Given the description of an element on the screen output the (x, y) to click on. 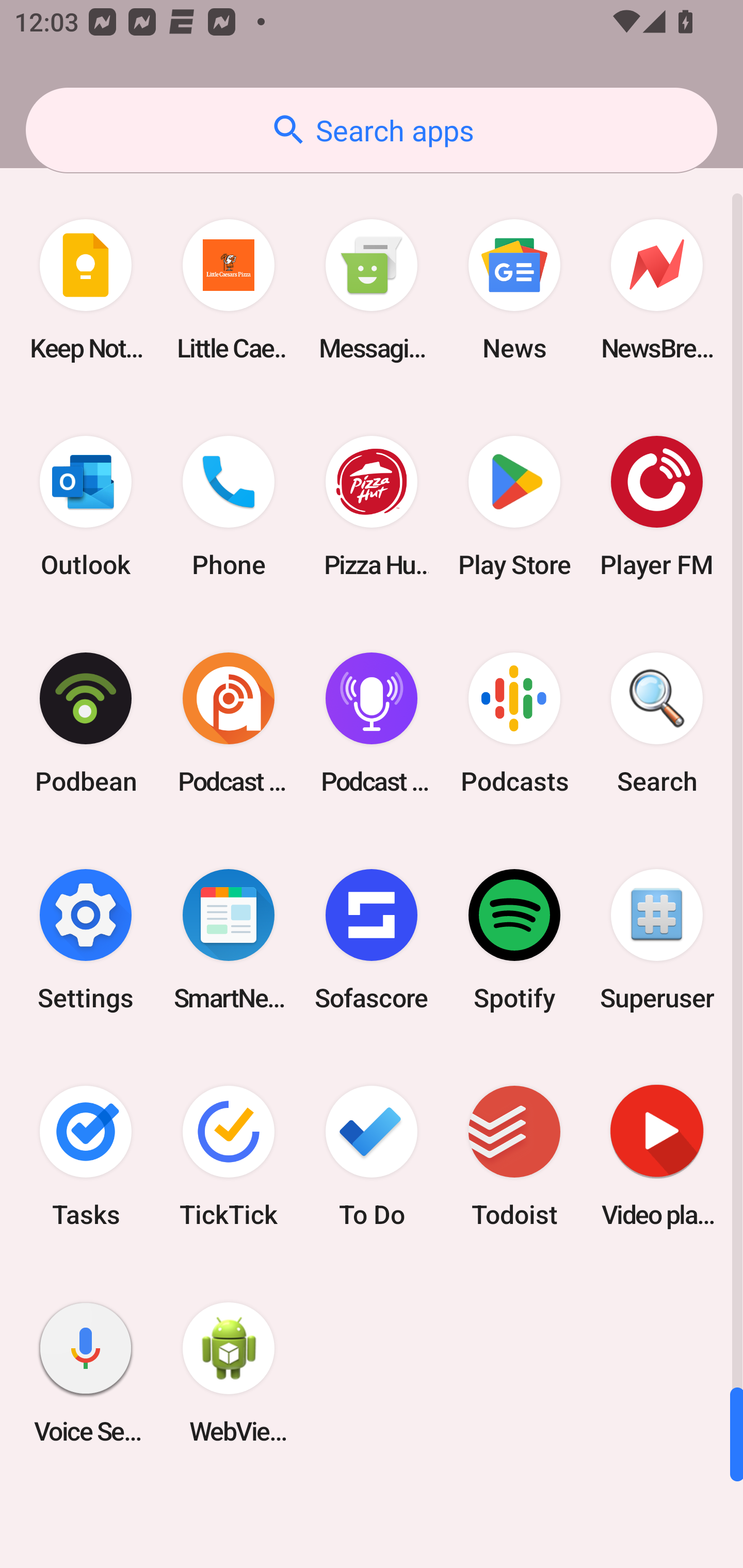
  Search apps (371, 130)
Keep Notes (85, 289)
Little Caesars Pizza (228, 289)
Messaging (371, 289)
News (514, 289)
NewsBreak (656, 289)
Outlook (85, 506)
Phone (228, 506)
Pizza Hut HK & Macau (371, 506)
Play Store (514, 506)
Player FM (656, 506)
Podbean (85, 722)
Podcast Addict (228, 722)
Podcast Player (371, 722)
Podcasts (514, 722)
Search (656, 722)
Settings (85, 939)
SmartNews (228, 939)
Sofascore (371, 939)
Spotify (514, 939)
Superuser (656, 939)
Tasks (85, 1156)
TickTick (228, 1156)
To Do (371, 1156)
Todoist (514, 1156)
Video player (656, 1156)
Voice Search (85, 1373)
WebView Browser Tester (228, 1373)
